Given the description of an element on the screen output the (x, y) to click on. 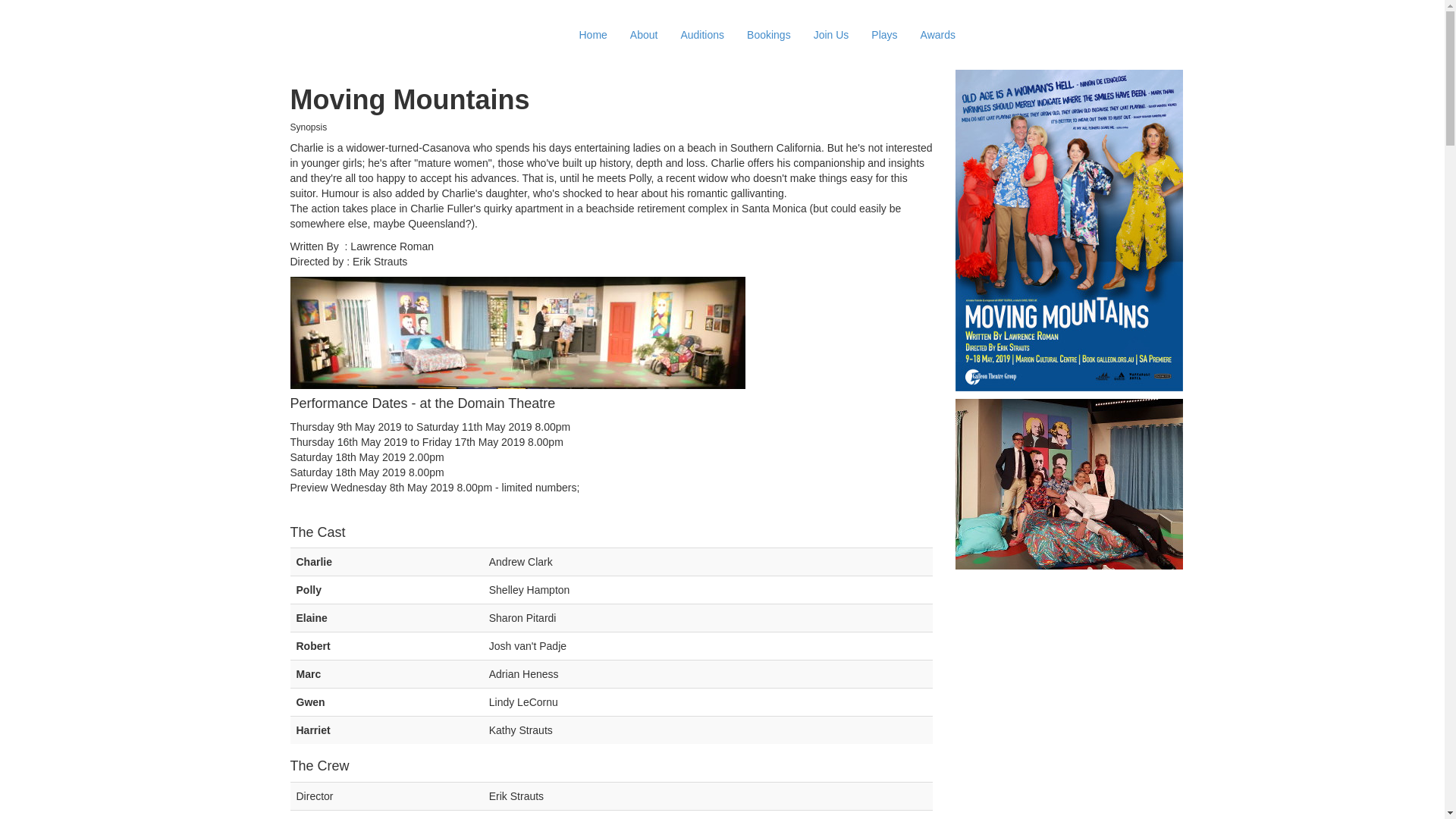
Home Element type: text (592, 34)
Awards Element type: text (937, 34)
View Larger Image Element type: hover (1069, 483)
Bookings Element type: text (768, 34)
Moving Mountains Element type: hover (1069, 230)
Auditions Element type: text (701, 34)
Join Us Element type: text (831, 34)
Plays Element type: text (883, 34)
About Element type: text (643, 34)
The set Element type: hover (516, 332)
